Given the description of an element on the screen output the (x, y) to click on. 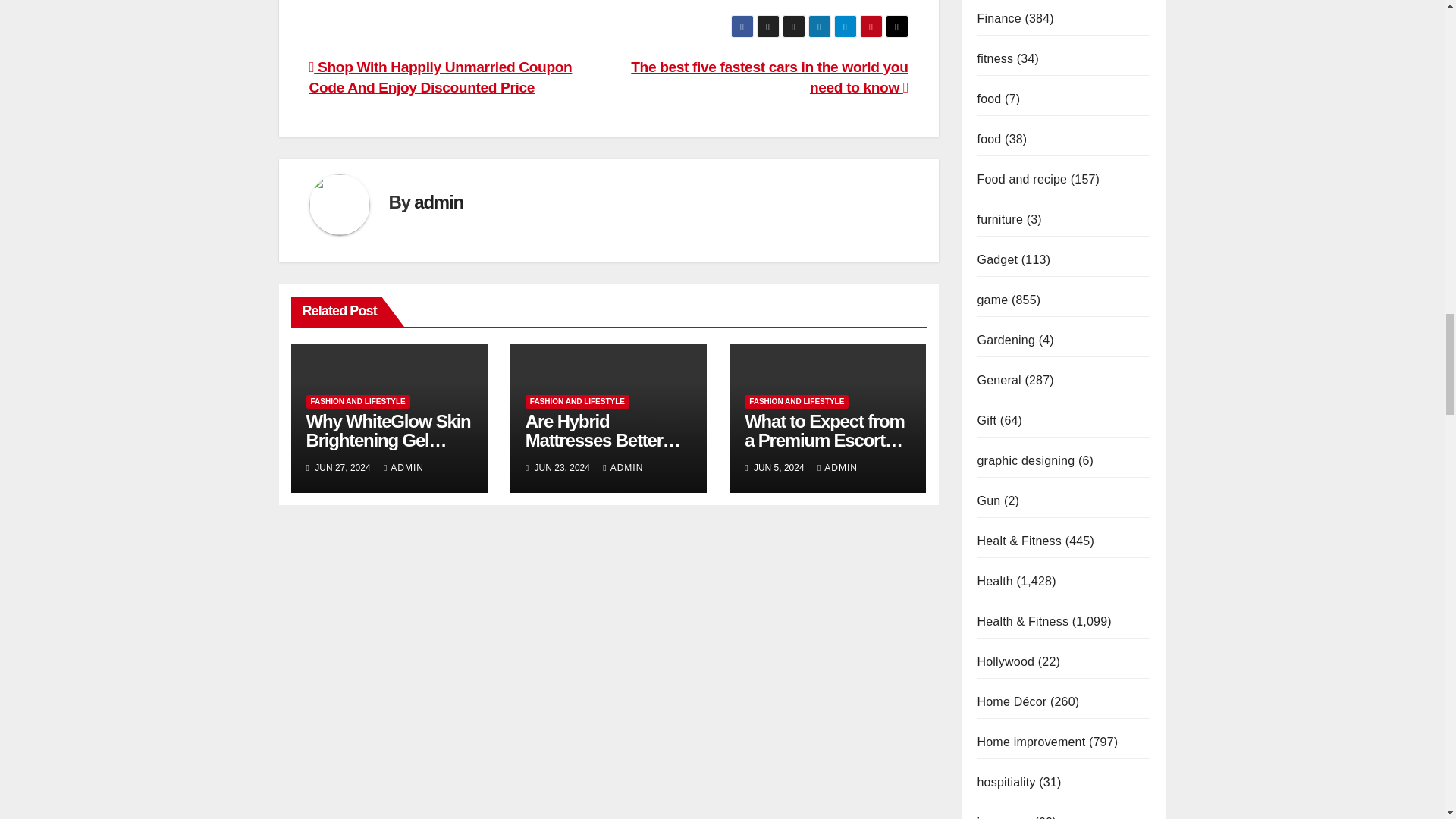
Permalink to: What to Expect from a Premium Escort Agency? (824, 440)
ADMIN (403, 467)
FASHION AND LIFESTYLE (357, 401)
Permalink to: Are Hybrid Mattresses Better Than Foam (603, 440)
The best five fastest cars in the world you need to know (768, 76)
admin (438, 201)
FASHION AND LIFESTYLE (576, 401)
